Given the description of an element on the screen output the (x, y) to click on. 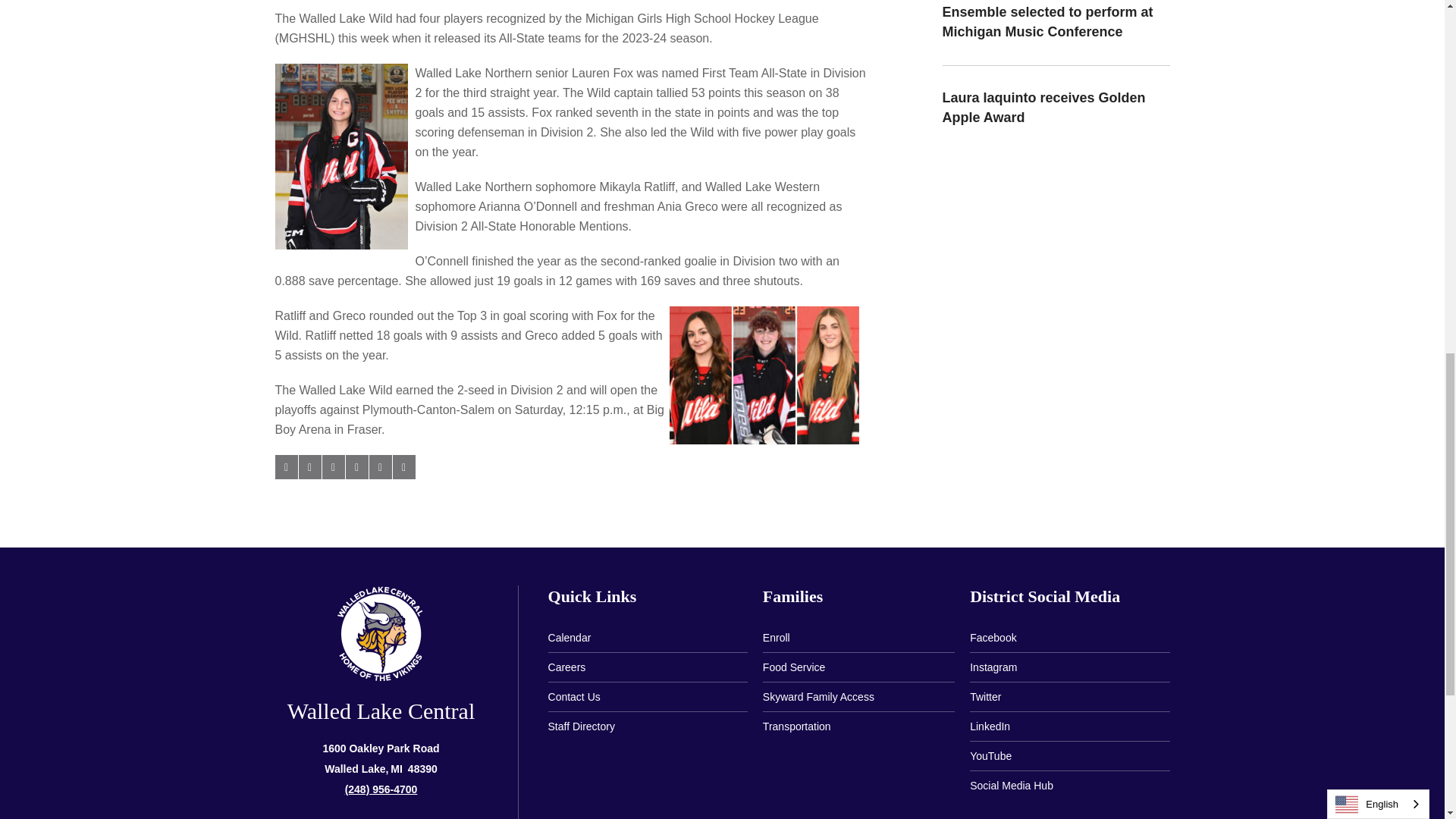
Share to Facebook (286, 467)
Share to Email (379, 467)
Print this page (403, 467)
Share to Pinterest (357, 467)
Share to LinkedIn (332, 467)
Share to Twitter (309, 467)
